Given the description of an element on the screen output the (x, y) to click on. 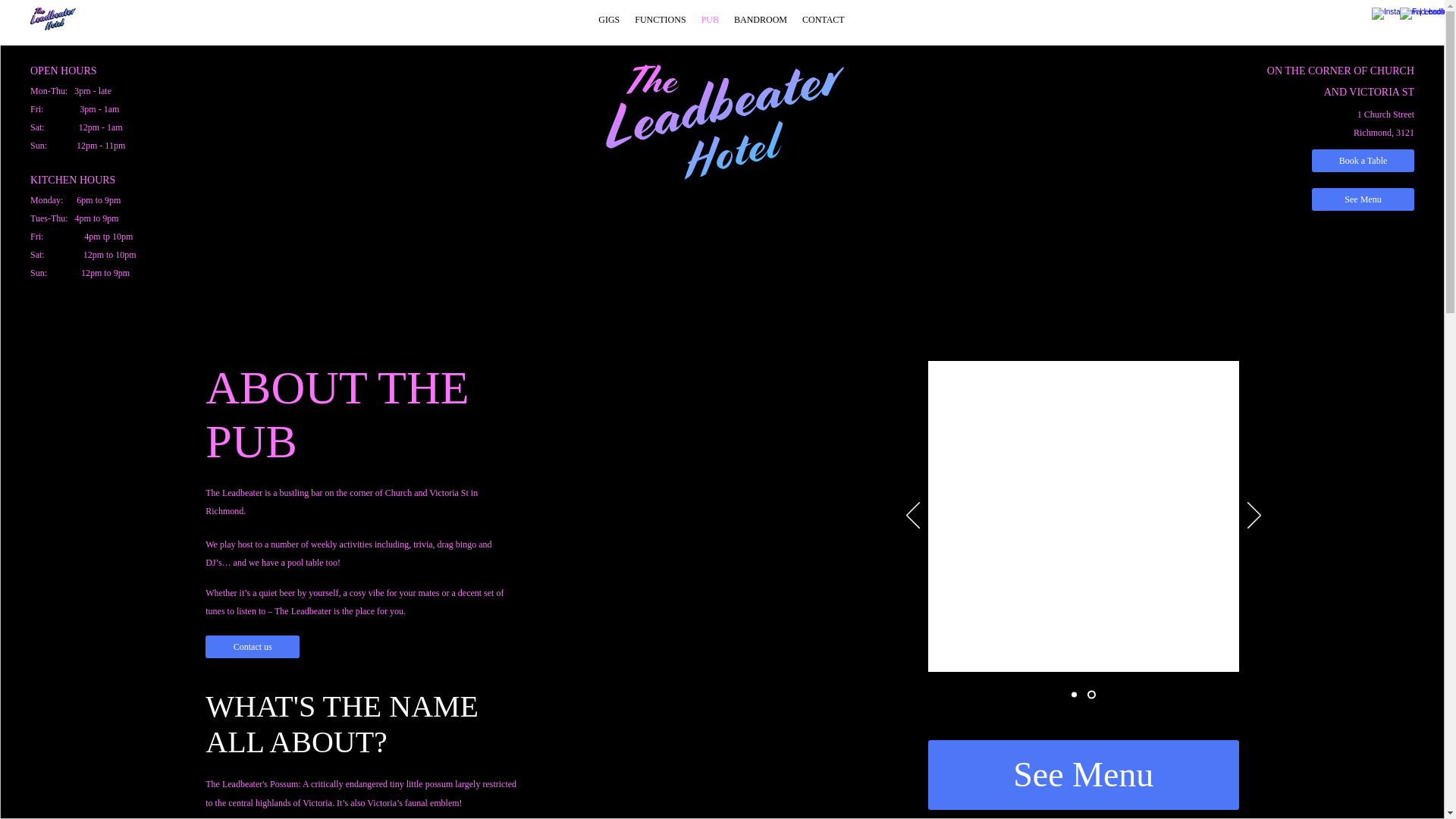
BANDROOM Element type: text (760, 19)
See Menu Element type: text (1083, 774)
Contact us Element type: text (252, 646)
CONTACT Element type: text (823, 19)
See Menu Element type: text (1362, 199)
FUNCTIONS Element type: text (660, 19)
Book a Table Element type: text (1362, 160)
PUB Element type: text (709, 19)
GIGS Element type: text (608, 19)
